Given the description of an element on the screen output the (x, y) to click on. 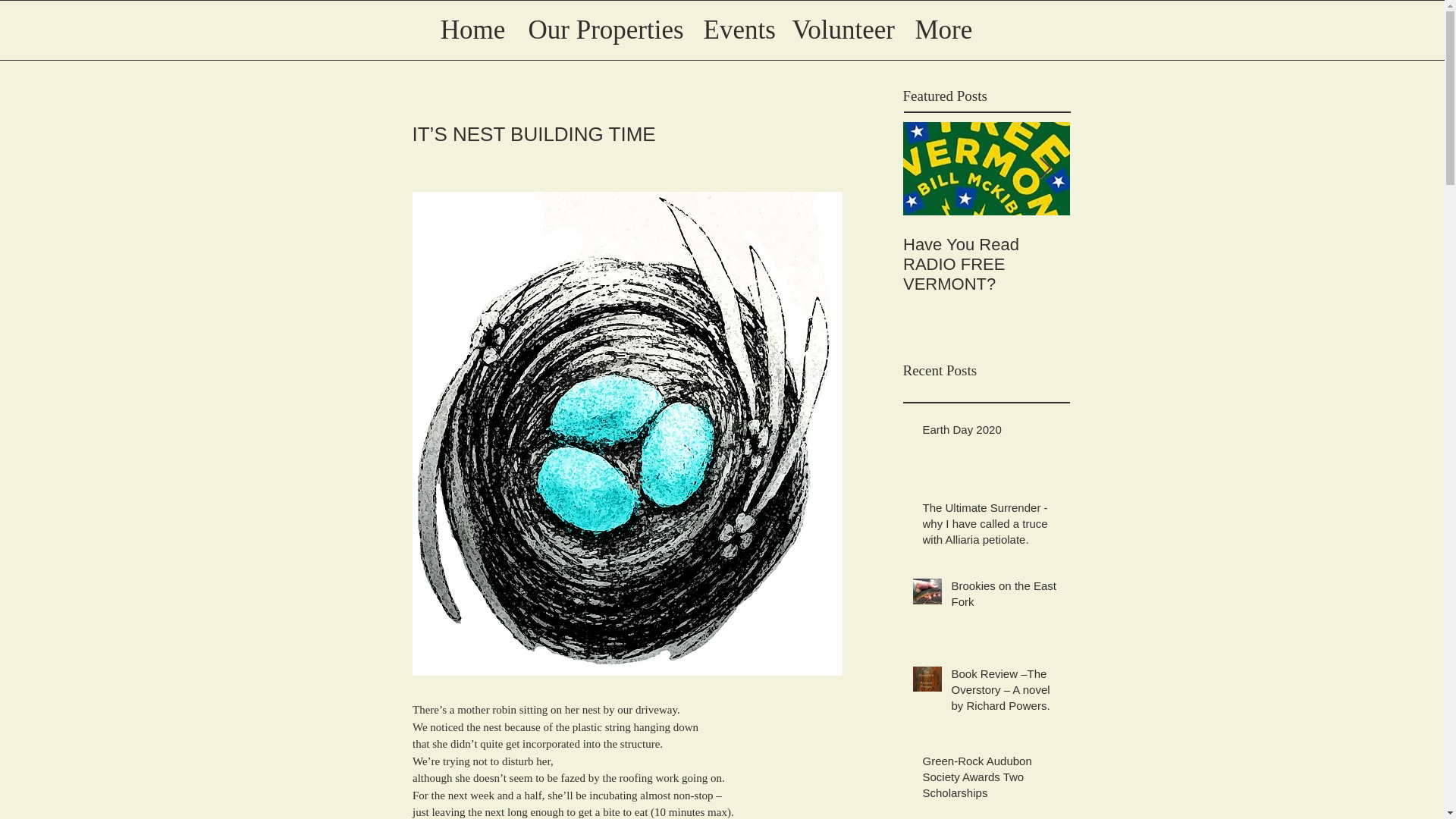
Green-Rock Audubon Society Awards Two Scholarships (990, 779)
Home (472, 30)
Have You Read RADIO FREE VERMONT? (985, 264)
More (943, 30)
Brookies on the East Fork (1004, 596)
Events (735, 30)
Earth Day 2020 (990, 432)
Volunteer (842, 30)
Our Properties (604, 30)
